Given the description of an element on the screen output the (x, y) to click on. 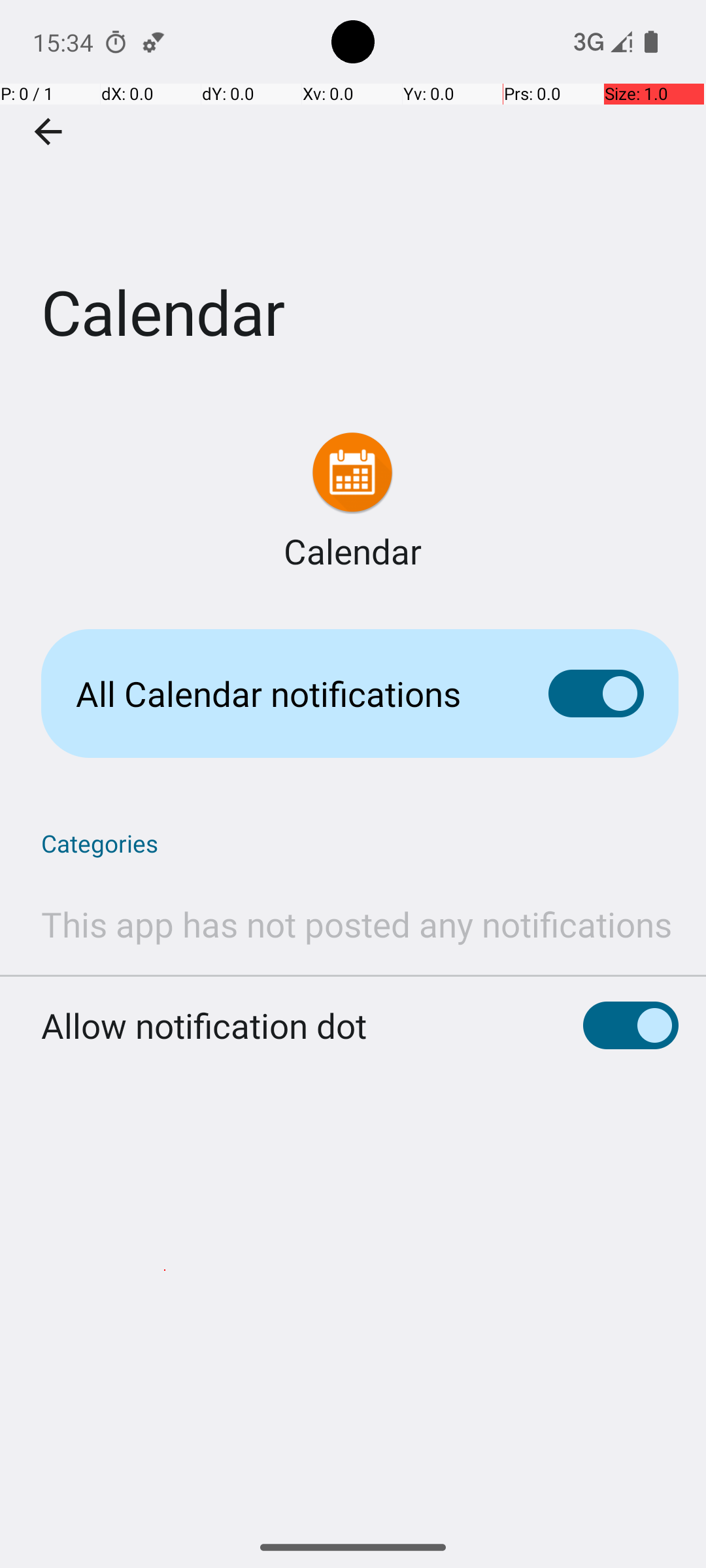
This app has not posted any notifications Element type: android.widget.TextView (356, 923)
